Given the description of an element on the screen output the (x, y) to click on. 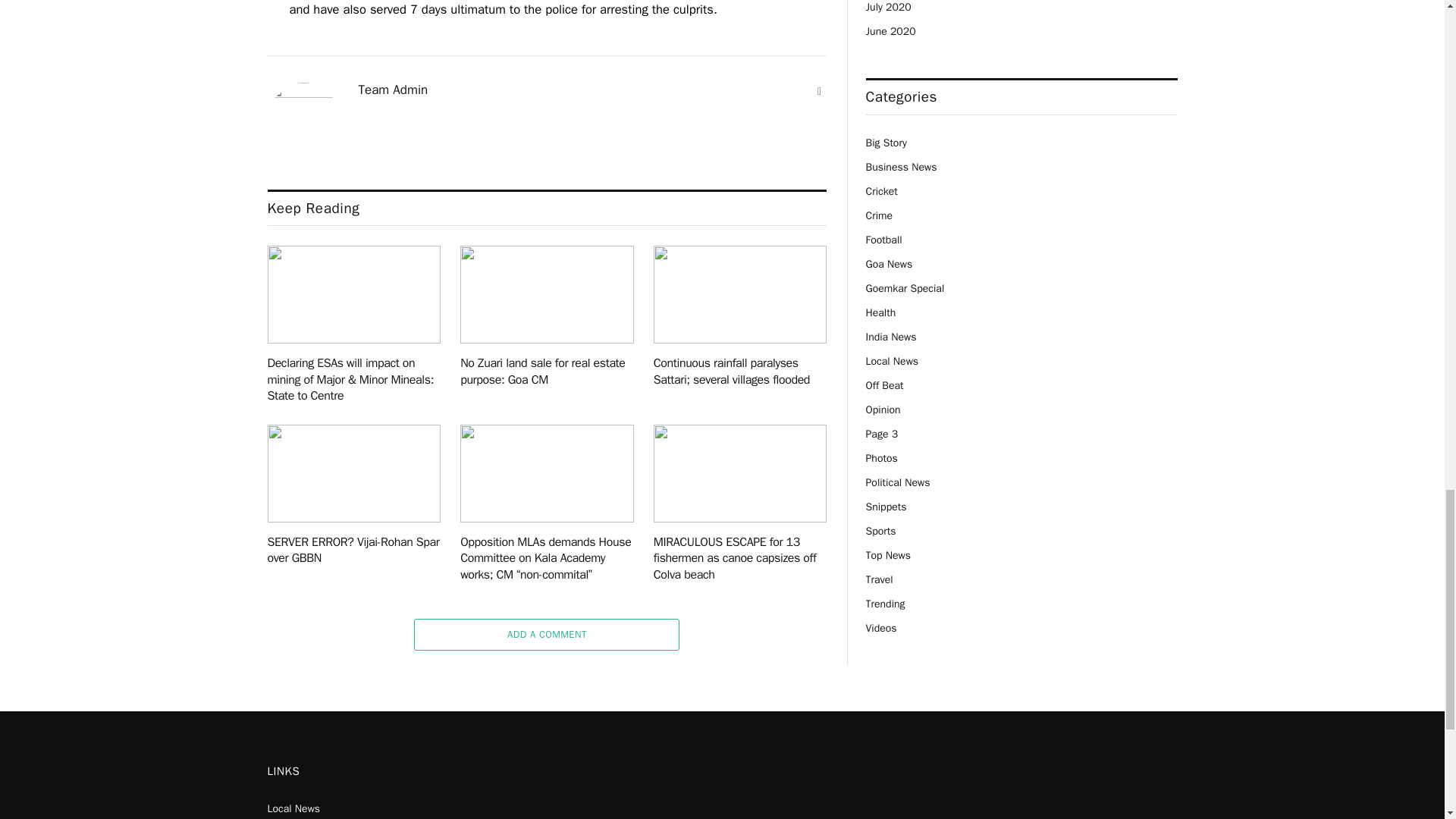
Posts by Team Admin (393, 89)
Website (818, 91)
